Given the description of an element on the screen output the (x, y) to click on. 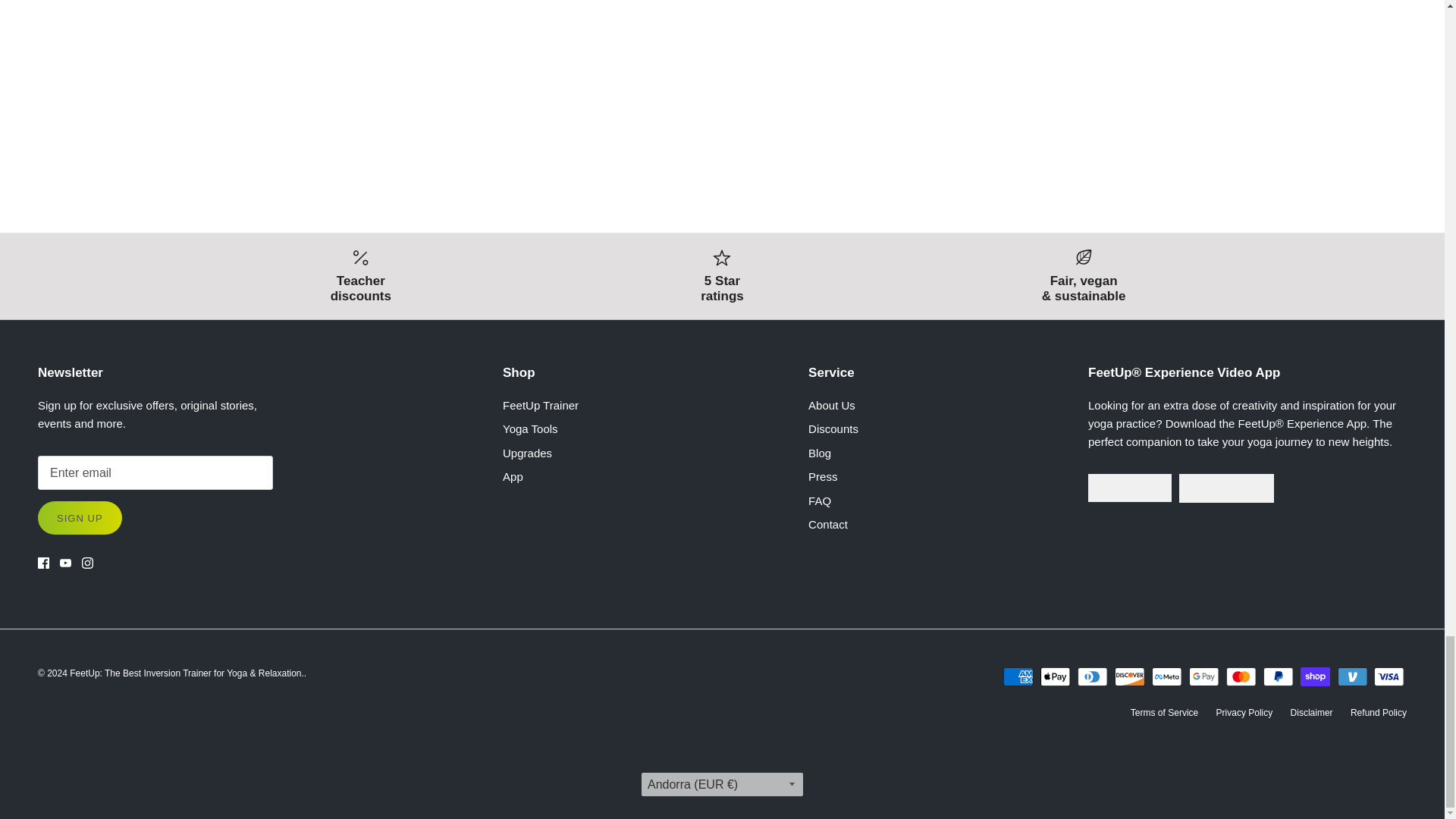
Instagram (87, 562)
Diners Club (1092, 676)
Facebook (43, 562)
Google Pay (1203, 676)
Apple Pay (1055, 676)
Youtube (65, 562)
Visa (1388, 676)
Discover (1129, 676)
Mastercard (1240, 676)
Shop Pay (1315, 676)
PayPal (1277, 676)
American Express (1018, 676)
Meta Pay (1166, 676)
Venmo (1352, 676)
